Given the description of an element on the screen output the (x, y) to click on. 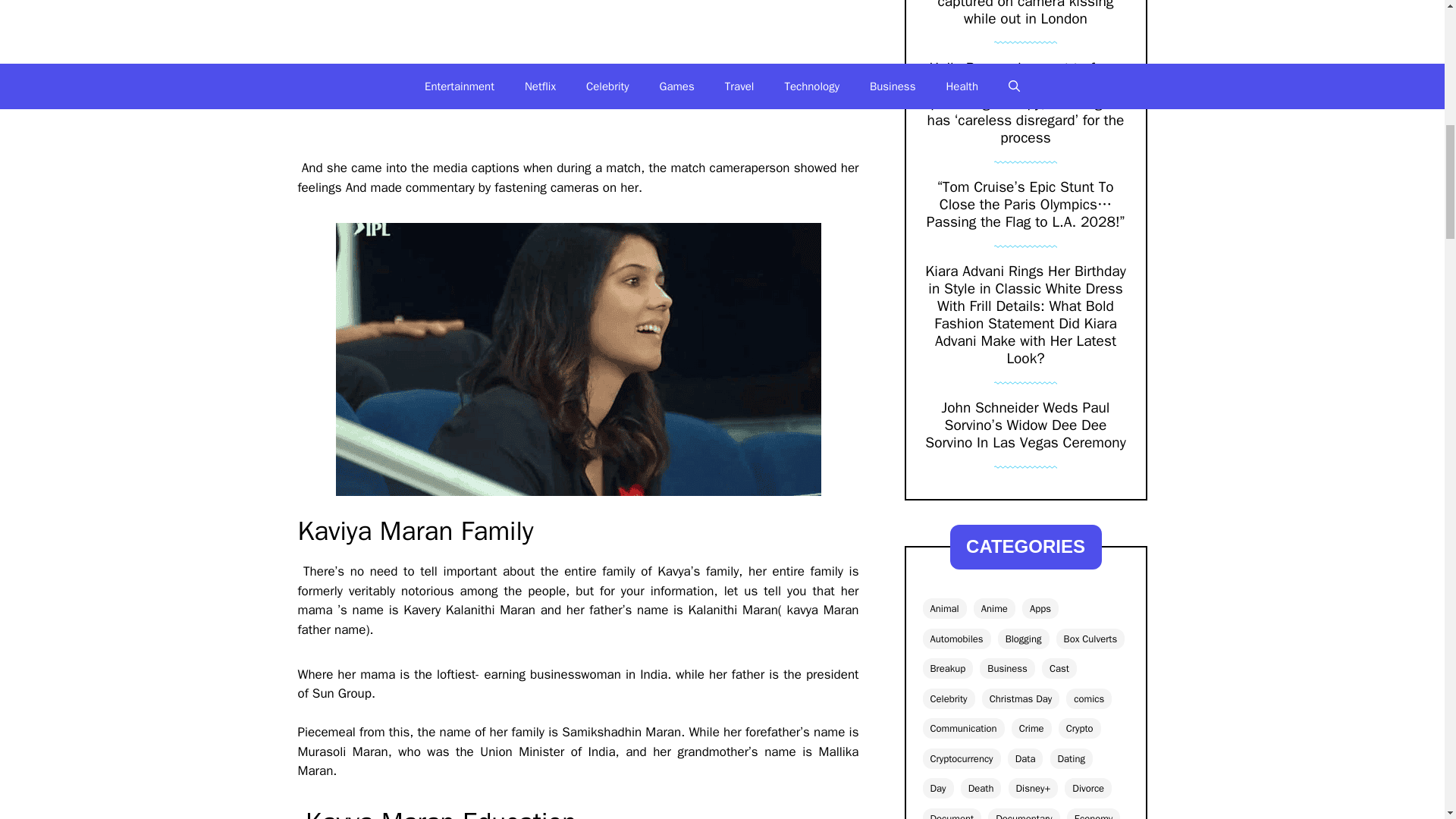
Advertisement (578, 76)
